Given the description of an element on the screen output the (x, y) to click on. 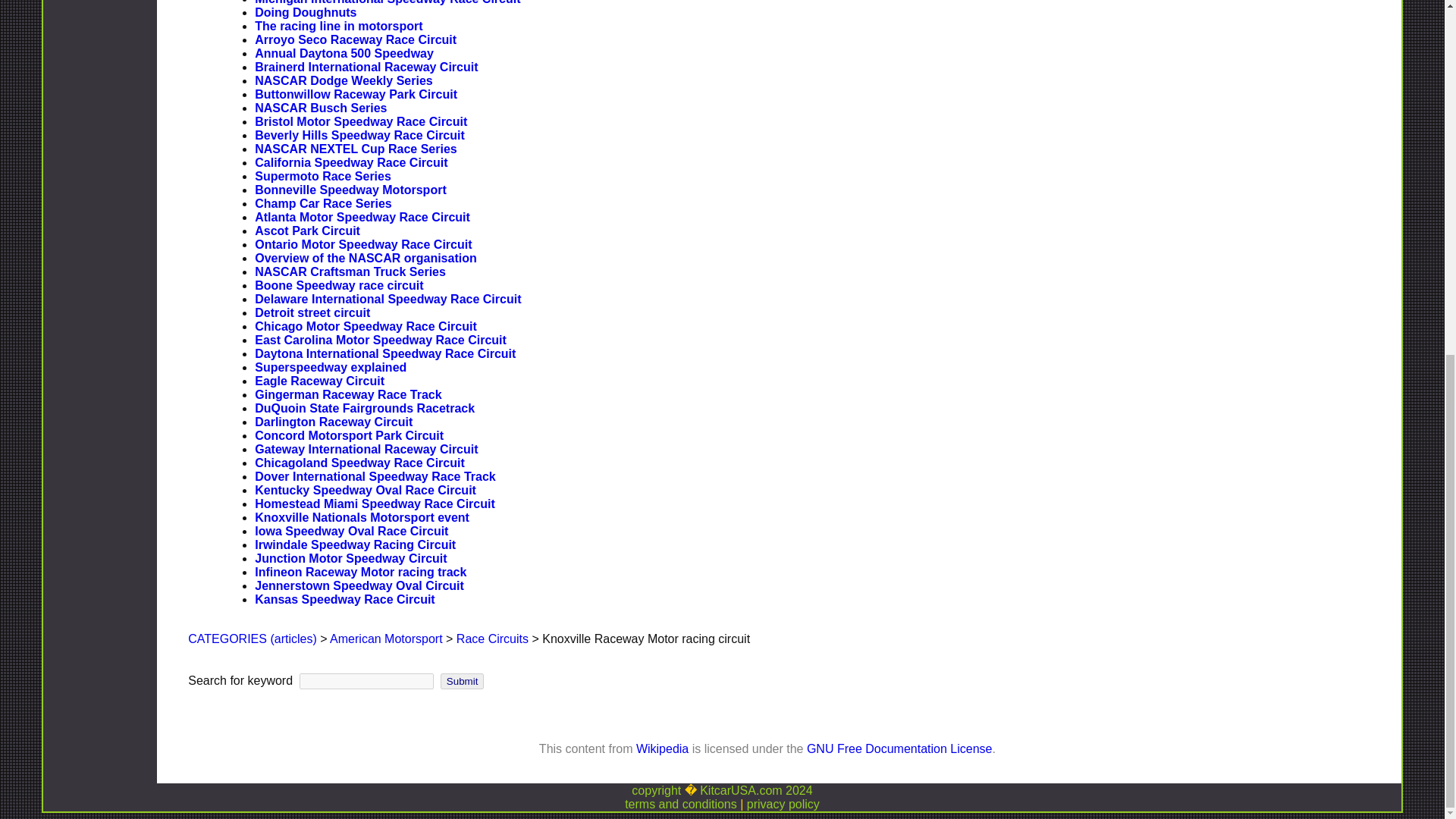
NASCAR Busch Series (320, 107)
Submit (462, 681)
Atlanta Motor Speedway Race Circuit (362, 216)
Champ Car Race Series (322, 203)
California Speedway Race Circuit (350, 162)
Supermoto Race Series (322, 175)
Annual Daytona 500 Speedway (343, 52)
Beverly Hills Speedway Race Circuit (359, 134)
Brainerd International Raceway Circuit (365, 66)
Doing Doughnuts (305, 11)
